Given the description of an element on the screen output the (x, y) to click on. 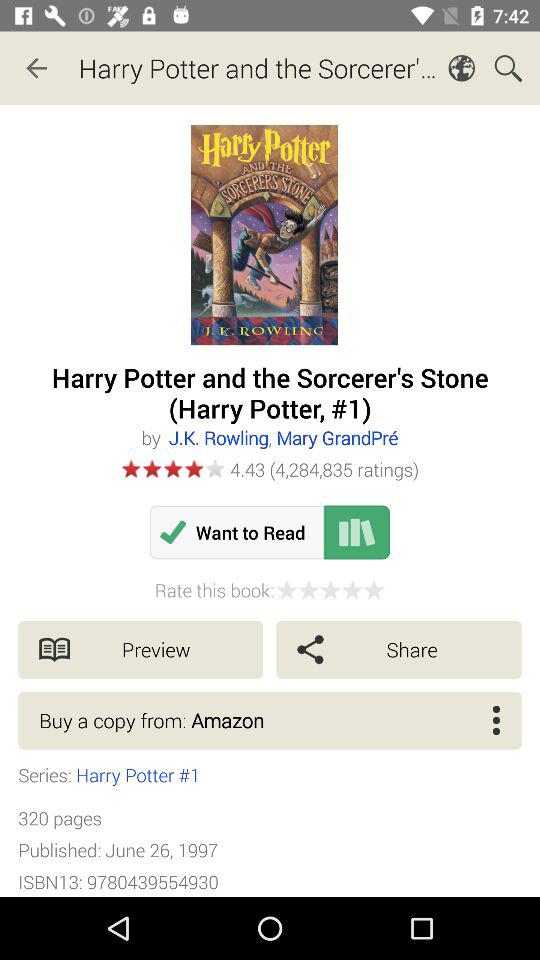
tap j k rowling (282, 437)
